Given the description of an element on the screen output the (x, y) to click on. 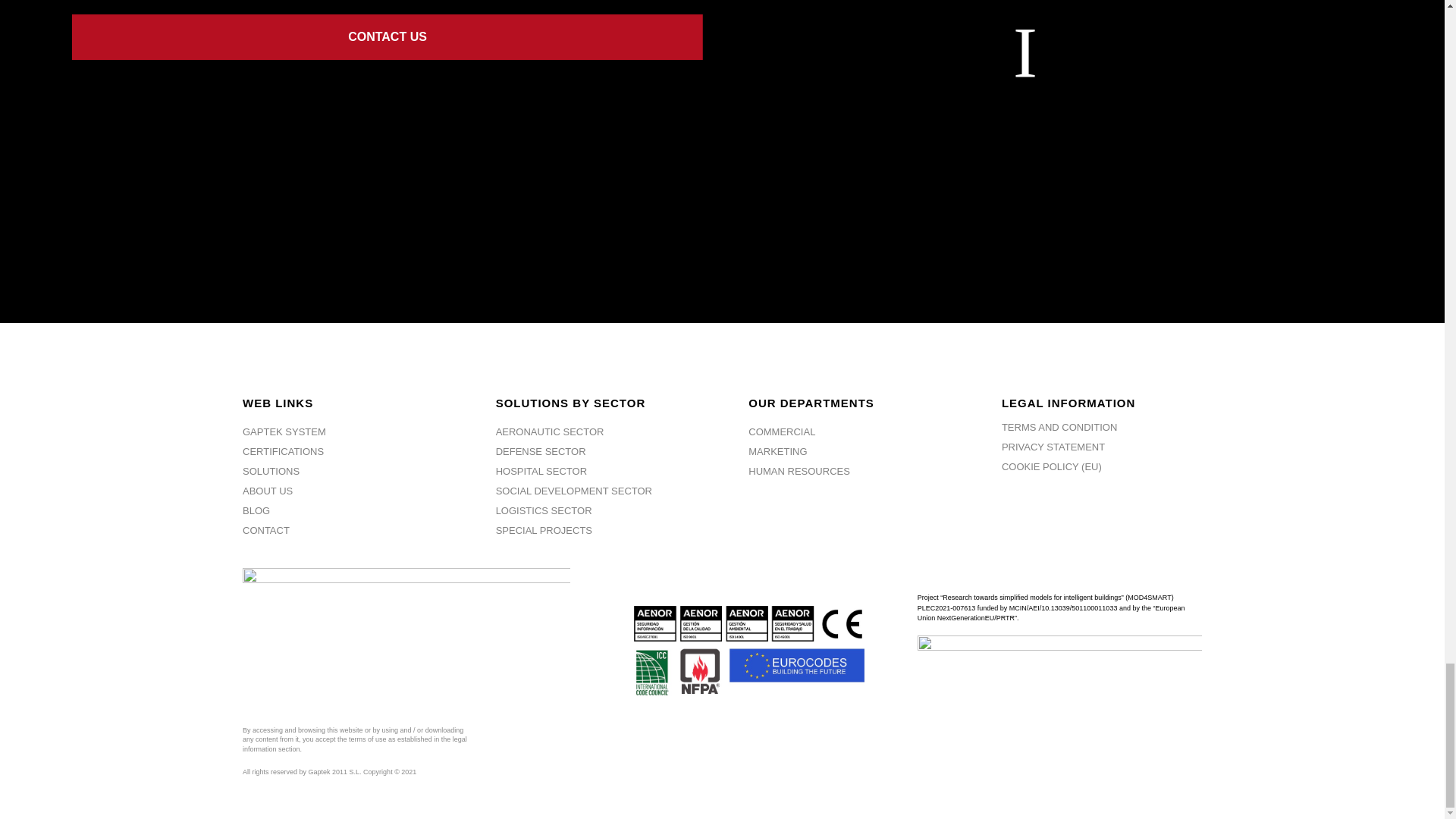
GAPTEK SYSTEM (284, 431)
BLOG (256, 510)
CONTACT (266, 530)
Gaptek system (284, 431)
CERTIFICATIONS (283, 451)
DEFENSE SECTOR (541, 451)
LOGISTICS SECTOR (544, 510)
SOCIAL DEVELOPMENT SECTOR (574, 490)
CONTACT US (387, 36)
Solutions (271, 471)
About US (267, 490)
ABOUT US (267, 490)
HOSPITAL SECTOR (541, 471)
AERONAUTIC SECTOR (550, 431)
